Given the description of an element on the screen output the (x, y) to click on. 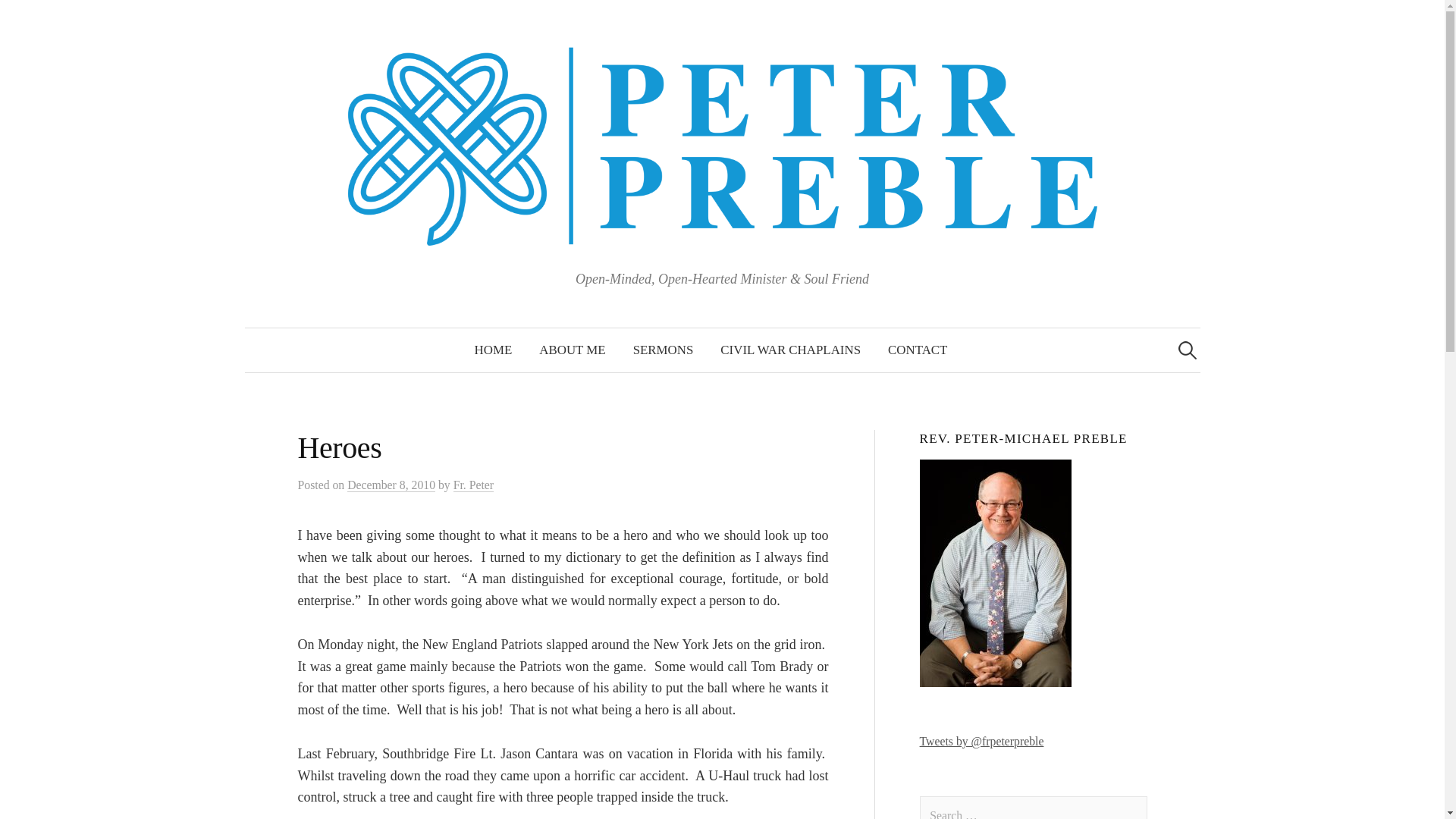
View all posts by Fr. Peter (472, 485)
Fr. Peter (472, 485)
Search (40, 18)
HOME (493, 350)
ABOUT ME (571, 350)
SERMONS (663, 350)
CONTACT (917, 350)
Search (18, 18)
CIVIL WAR CHAPLAINS (790, 350)
December 8, 2010 (391, 485)
